Given the description of an element on the screen output the (x, y) to click on. 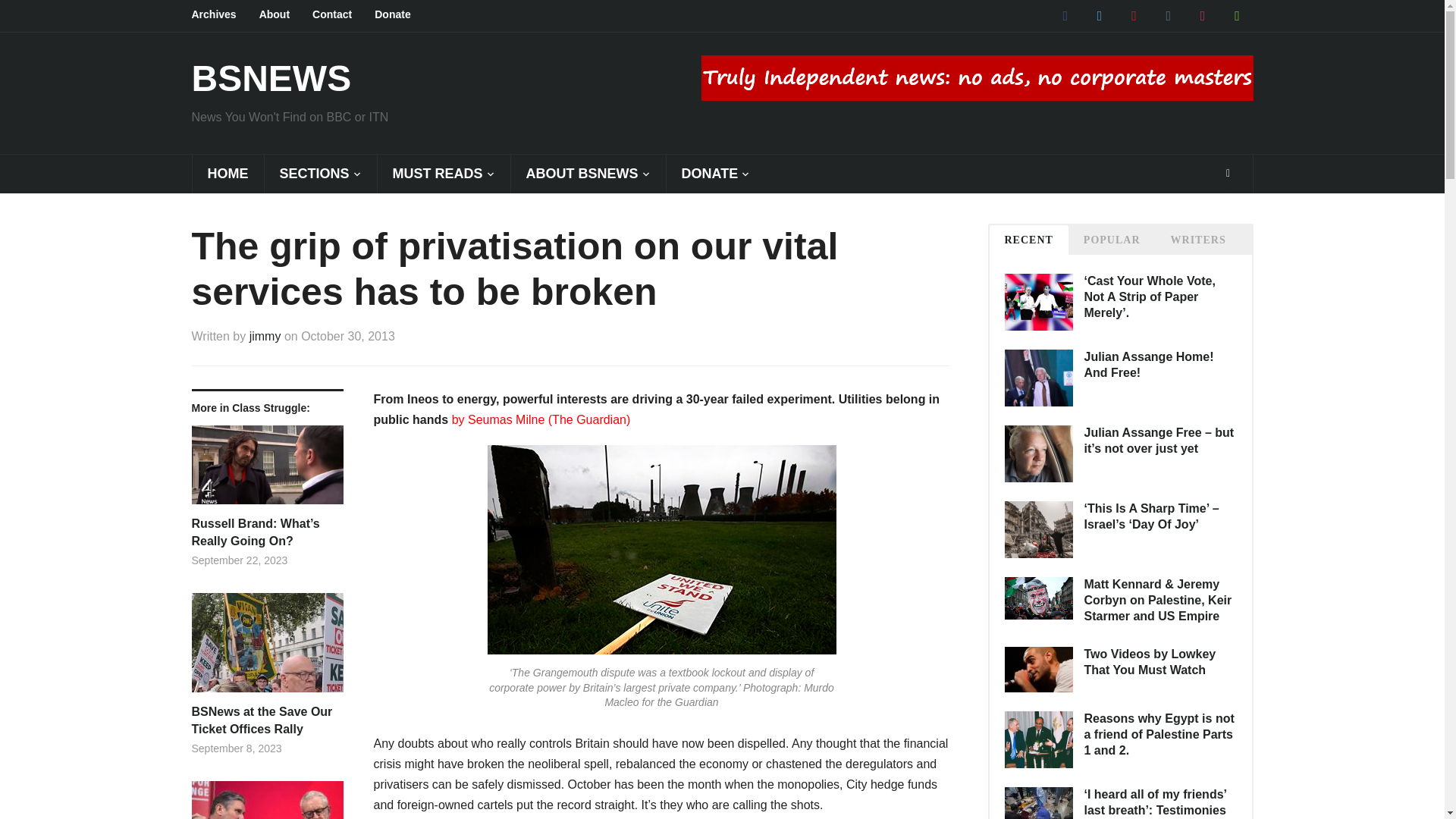
News You Won't Find on BBC or ITN (270, 78)
Default Label (1168, 14)
Permalink to BSNews at the Save Our Ticket Offices Rally (266, 720)
Default Label (1202, 14)
Twitter (1099, 14)
Default Label (1134, 14)
Default Label (1236, 14)
Facebook (1065, 14)
Permalink to BSNews at the Save Our Ticket Offices Rally (266, 647)
